Given the description of an element on the screen output the (x, y) to click on. 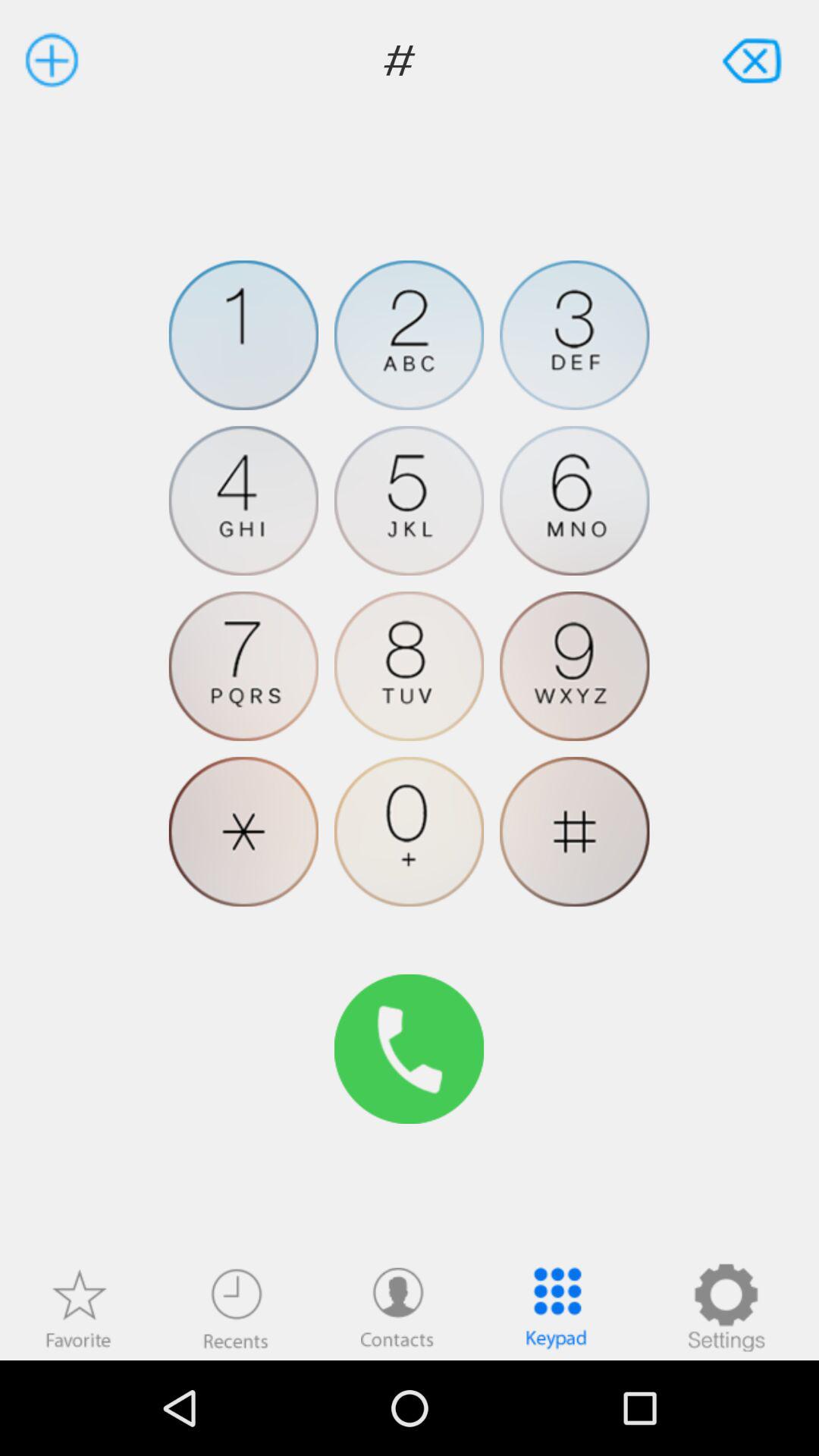
click app below the # item (78, 1307)
